Given the description of an element on the screen output the (x, y) to click on. 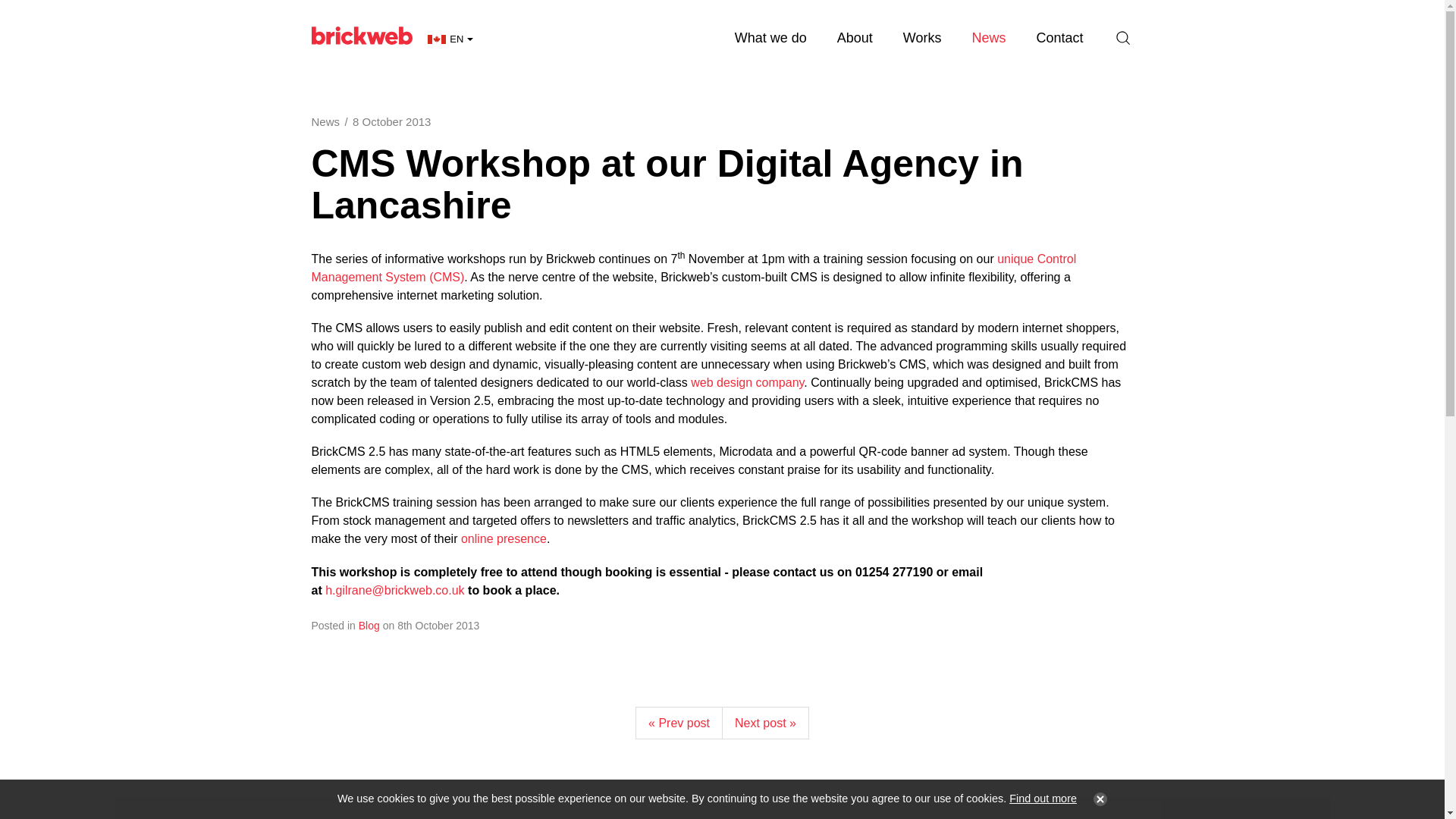
Blog (369, 624)
News (988, 37)
About (855, 37)
What we do (770, 37)
News (325, 121)
web design company (746, 382)
Brick technology news (988, 37)
EN (450, 39)
online presence (504, 538)
Works (922, 37)
Contact (1058, 37)
8 October 2013 (391, 121)
